Given the description of an element on the screen output the (x, y) to click on. 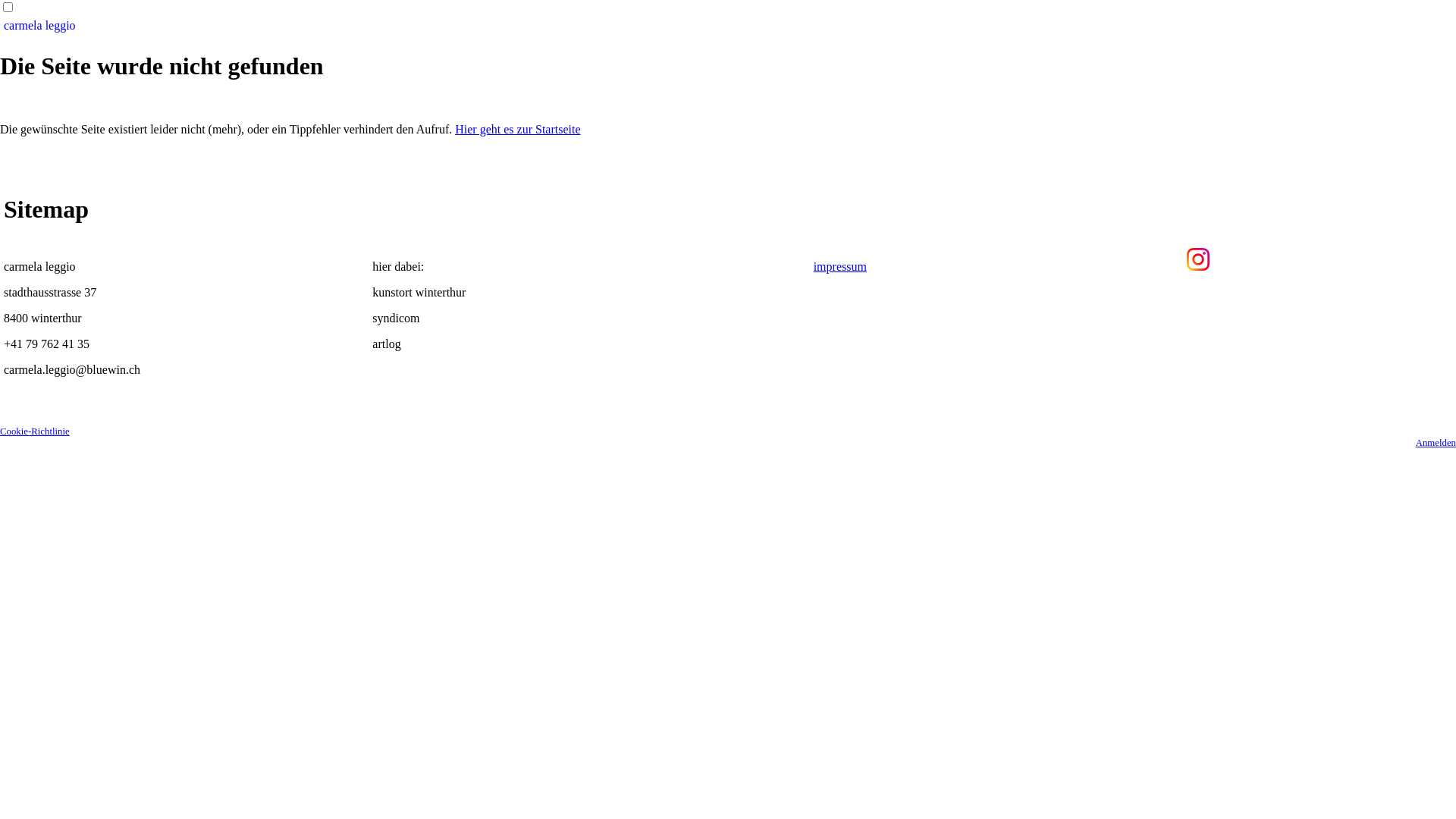
Hier geht es zur Startseite Element type: text (517, 128)
Cookie-Richtlinie Element type: text (34, 431)
carmela leggio Element type: text (727, 25)
impressum Element type: text (839, 266)
